Given the description of an element on the screen output the (x, y) to click on. 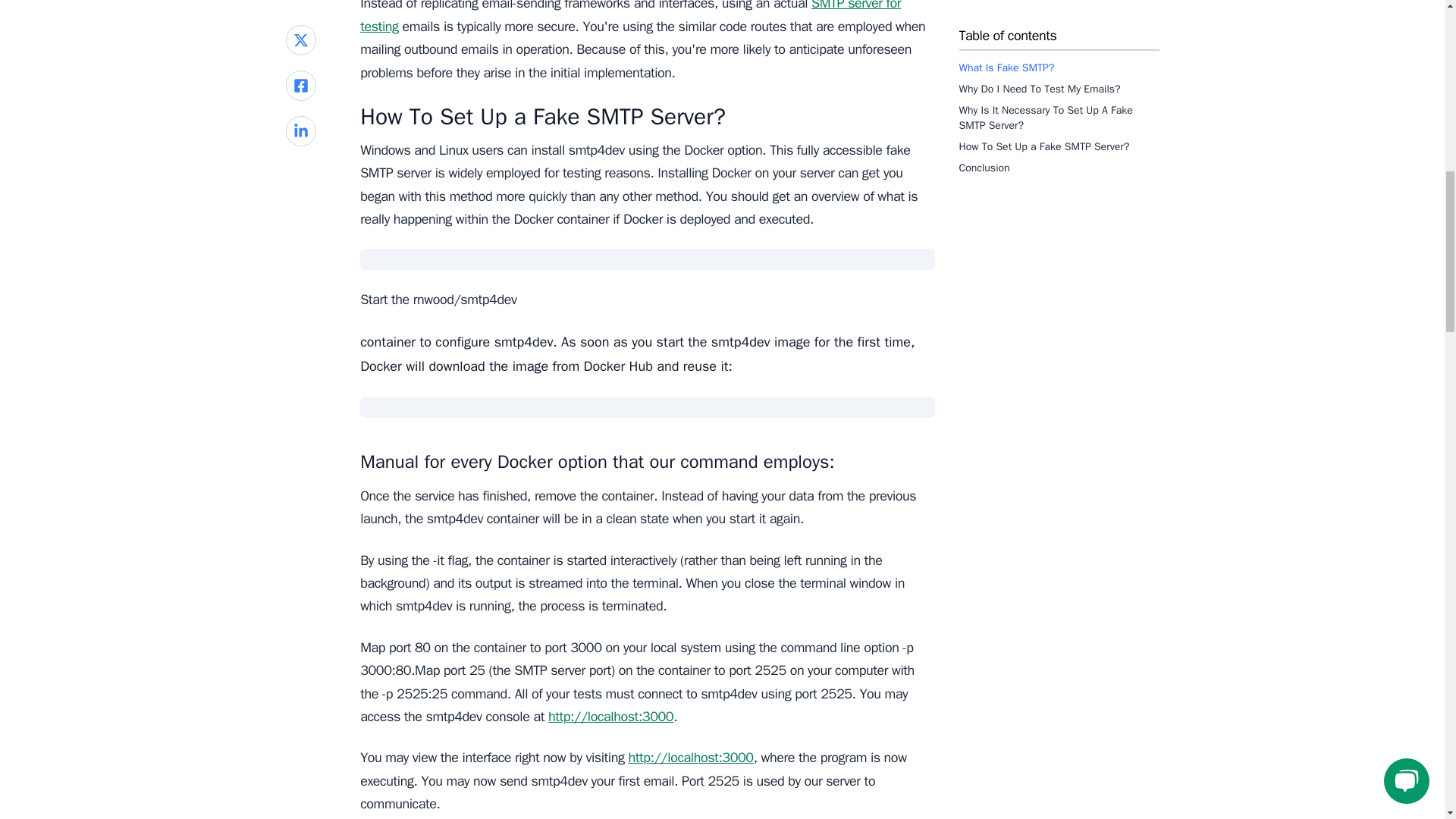
SMTP server for testing (630, 17)
